Given the description of an element on the screen output the (x, y) to click on. 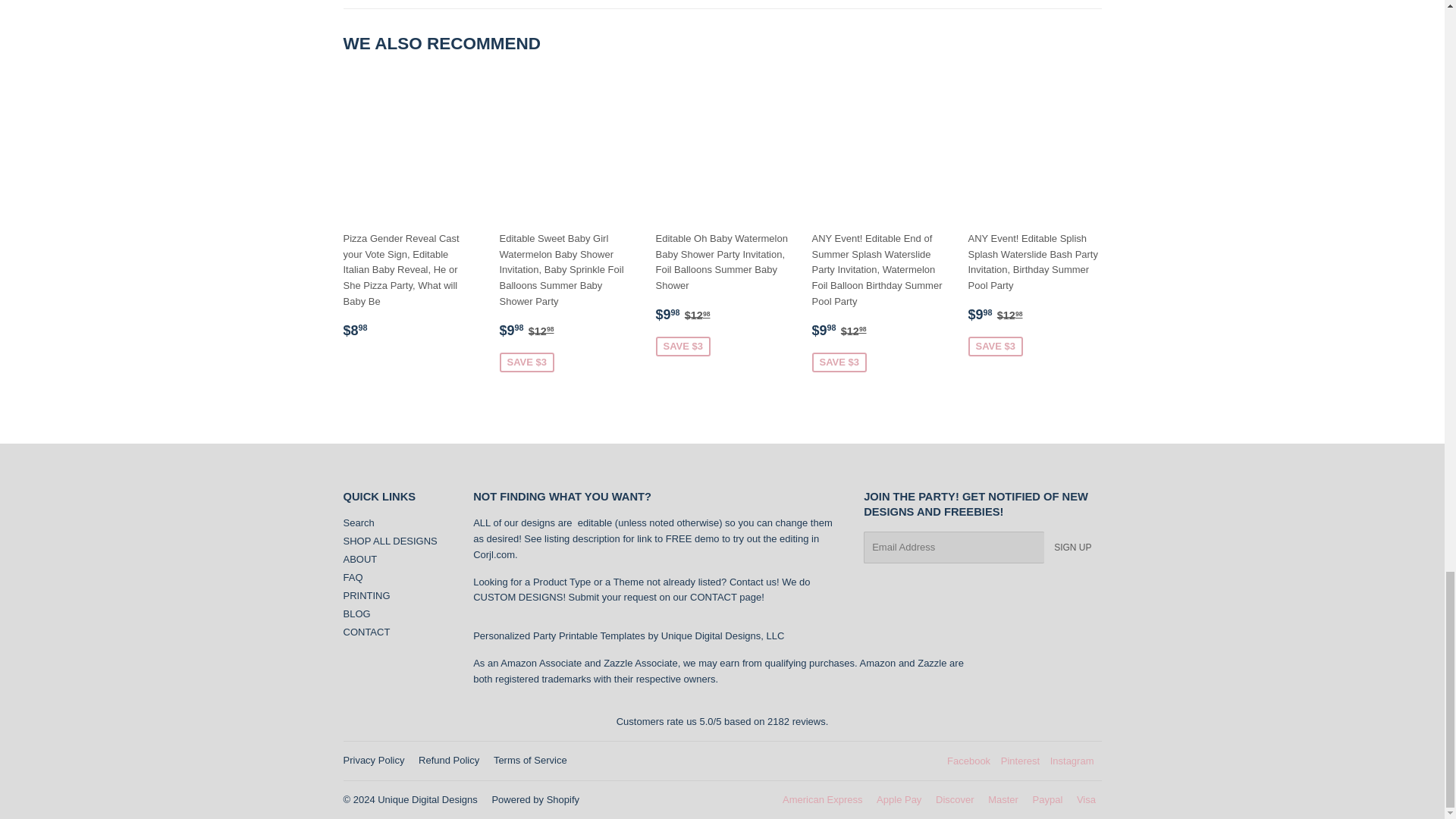
Unique Digital Designs on Pinterest (1020, 760)
Unique Digital Designs on Facebook (968, 760)
Unique Digital Designs on Instagram (1071, 760)
Unique Digital Designs powered by Corjl (494, 554)
